Given the description of an element on the screen output the (x, y) to click on. 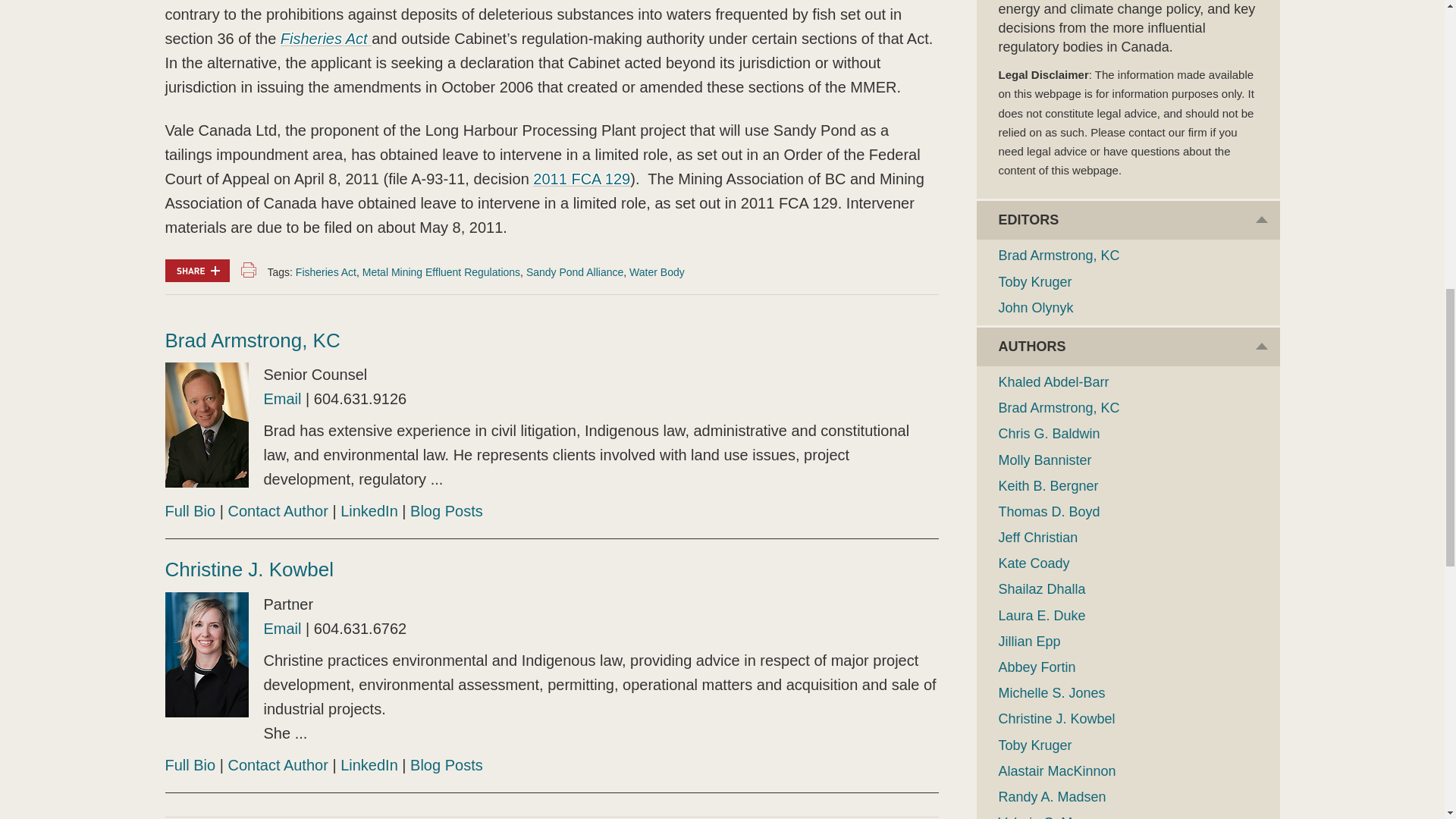
Metal Mining Effluent Regulations (440, 272)
Fisheries Act (325, 272)
604.631.6762 (360, 628)
Full Bio (190, 510)
Brad Armstrong, KC (252, 340)
Blog Posts (446, 764)
Email (282, 628)
Christine J. Kowbel (249, 568)
Contact Author (278, 764)
Water Body (656, 272)
Sandy Pond Alliance (574, 272)
LinkedIn (368, 510)
Share (197, 270)
Blog Posts (446, 510)
Fisheries Act (326, 38)
